Given the description of an element on the screen output the (x, y) to click on. 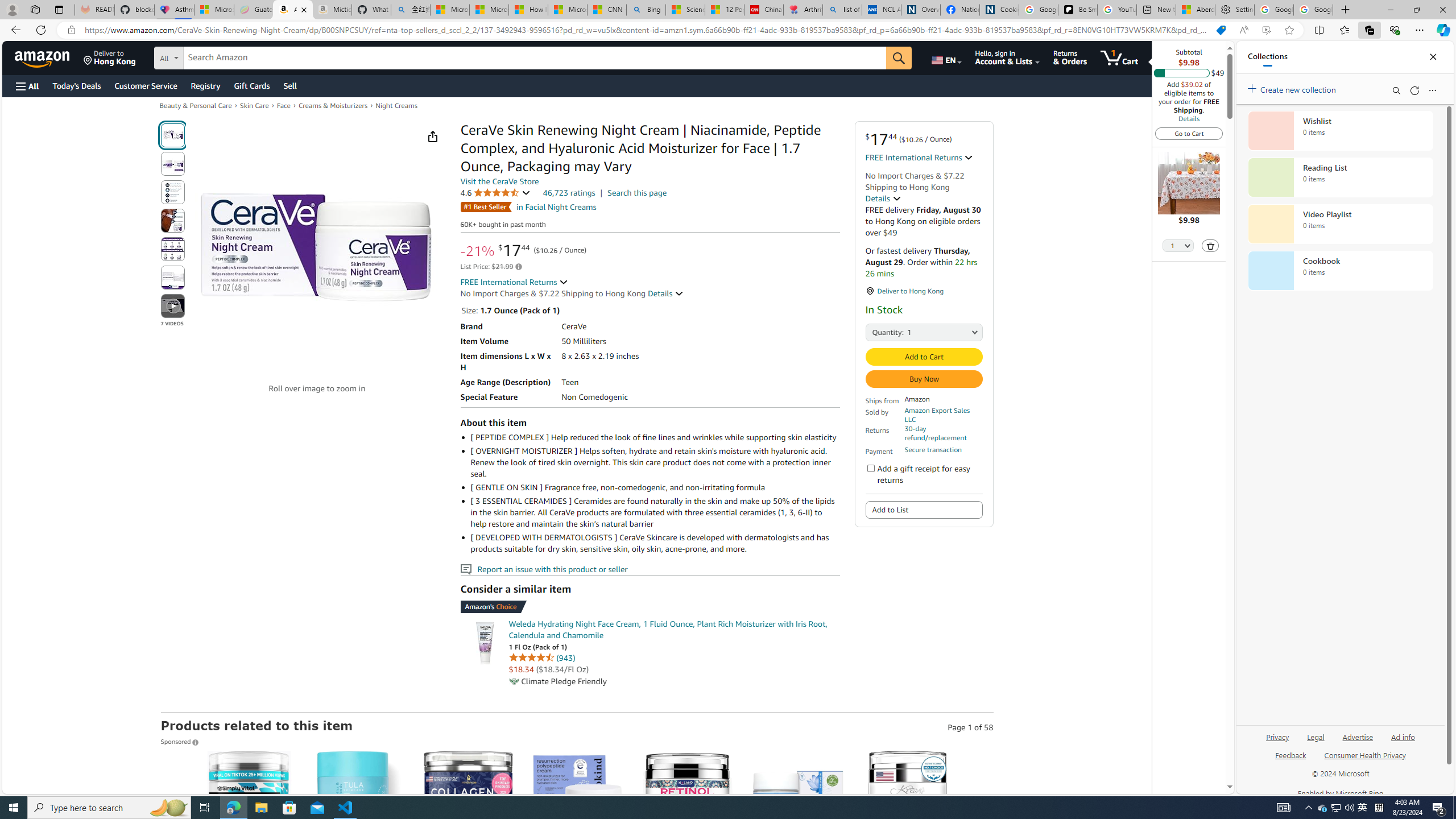
46,723 ratings (569, 192)
Face (283, 105)
CNN - MSN (606, 9)
Asthma Inhalers: Names and Types (174, 9)
Night Creams (396, 105)
Go (899, 57)
